Given the description of an element on the screen output the (x, y) to click on. 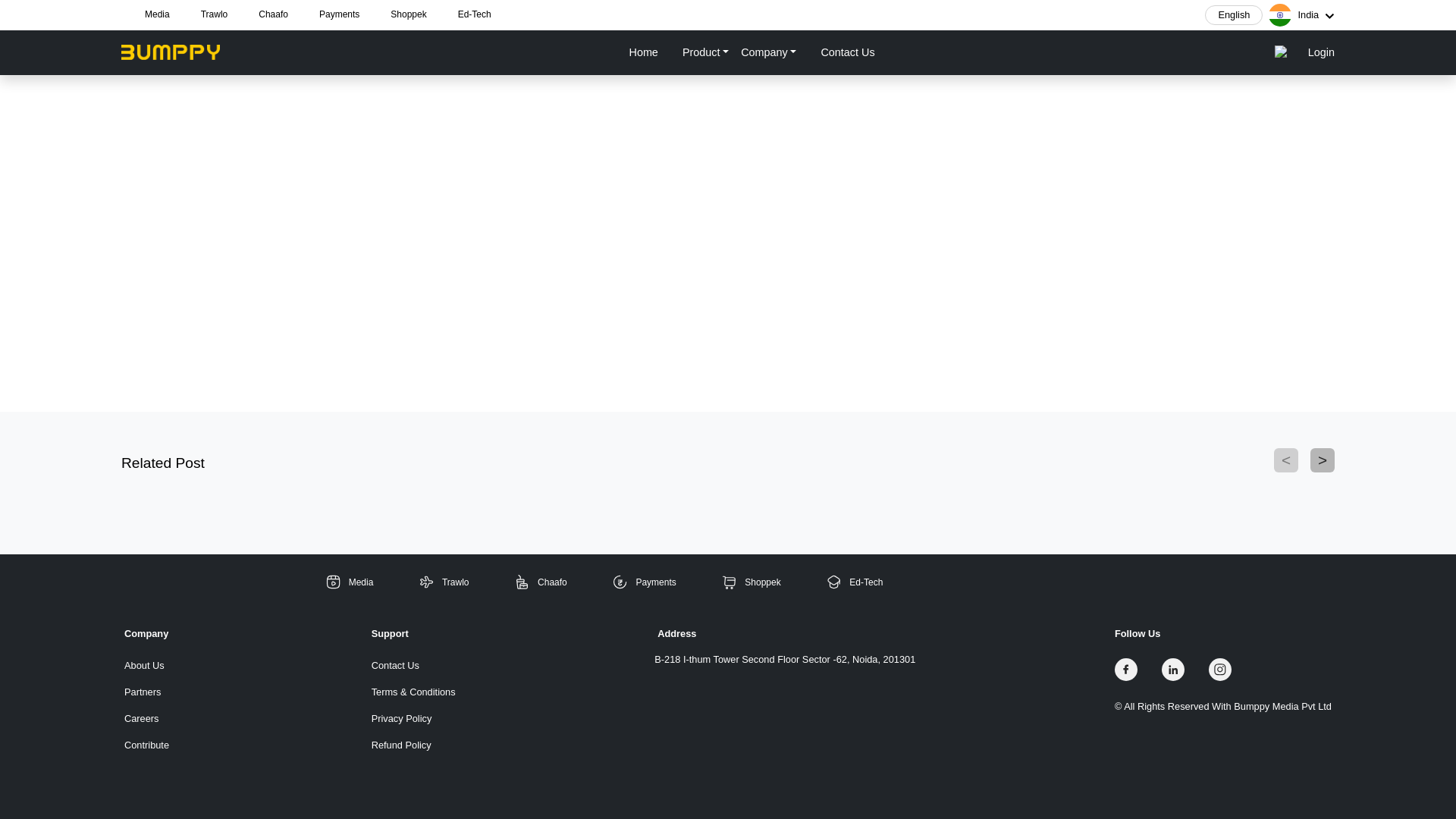
Careers (145, 718)
B-218 I-thum Tower Second Floor Sector -62, Noida, 201301 (784, 658)
About Us (145, 664)
Contact Us (413, 664)
Contribute (145, 745)
Refund Policy (413, 745)
Privacy Policy (413, 718)
Partners (145, 691)
